Given the description of an element on the screen output the (x, y) to click on. 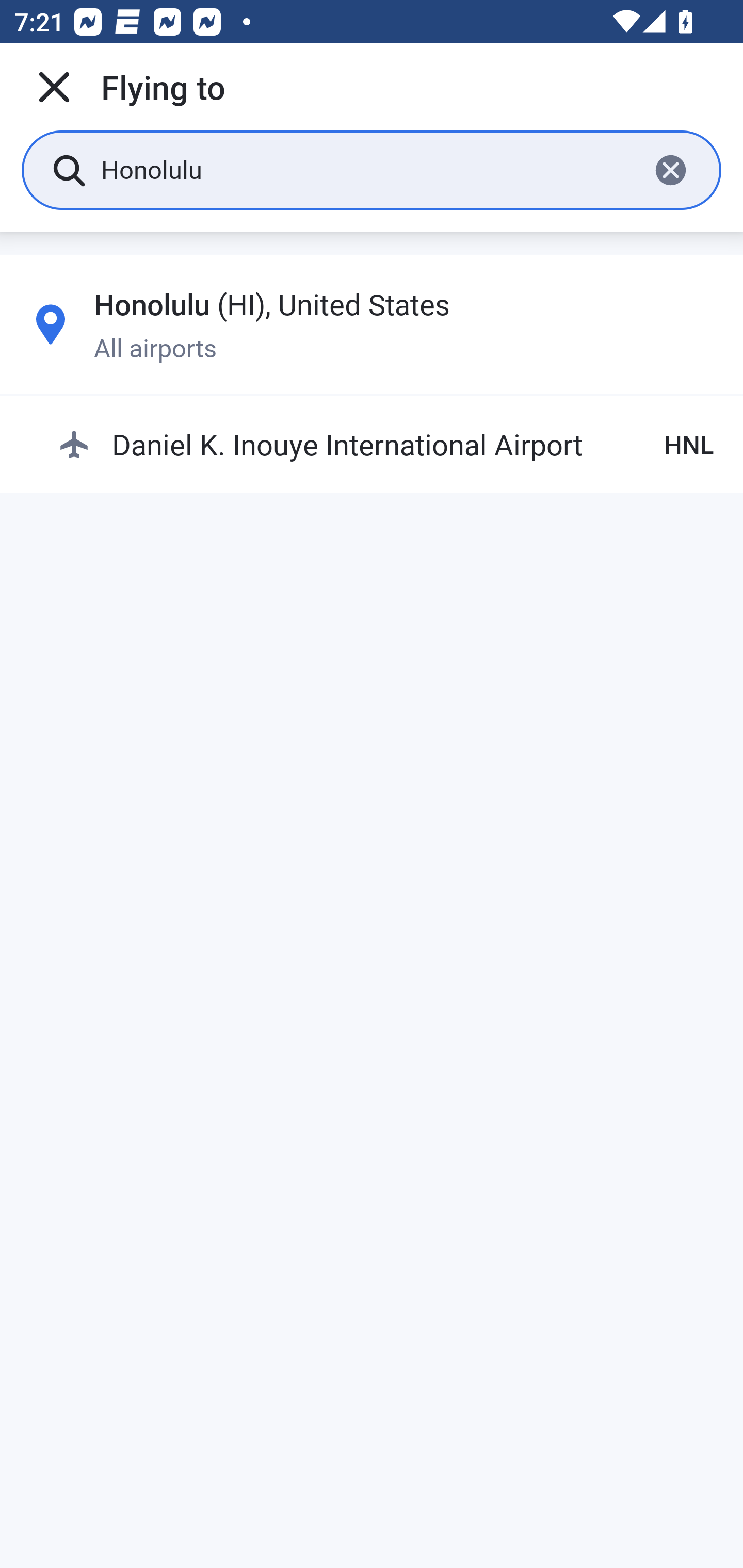
Honolulu (367, 169)
Honolulu (HI), United States All airports (371, 324)
Daniel K. Inouye International Airport HNL (385, 444)
